Given the description of an element on the screen output the (x, y) to click on. 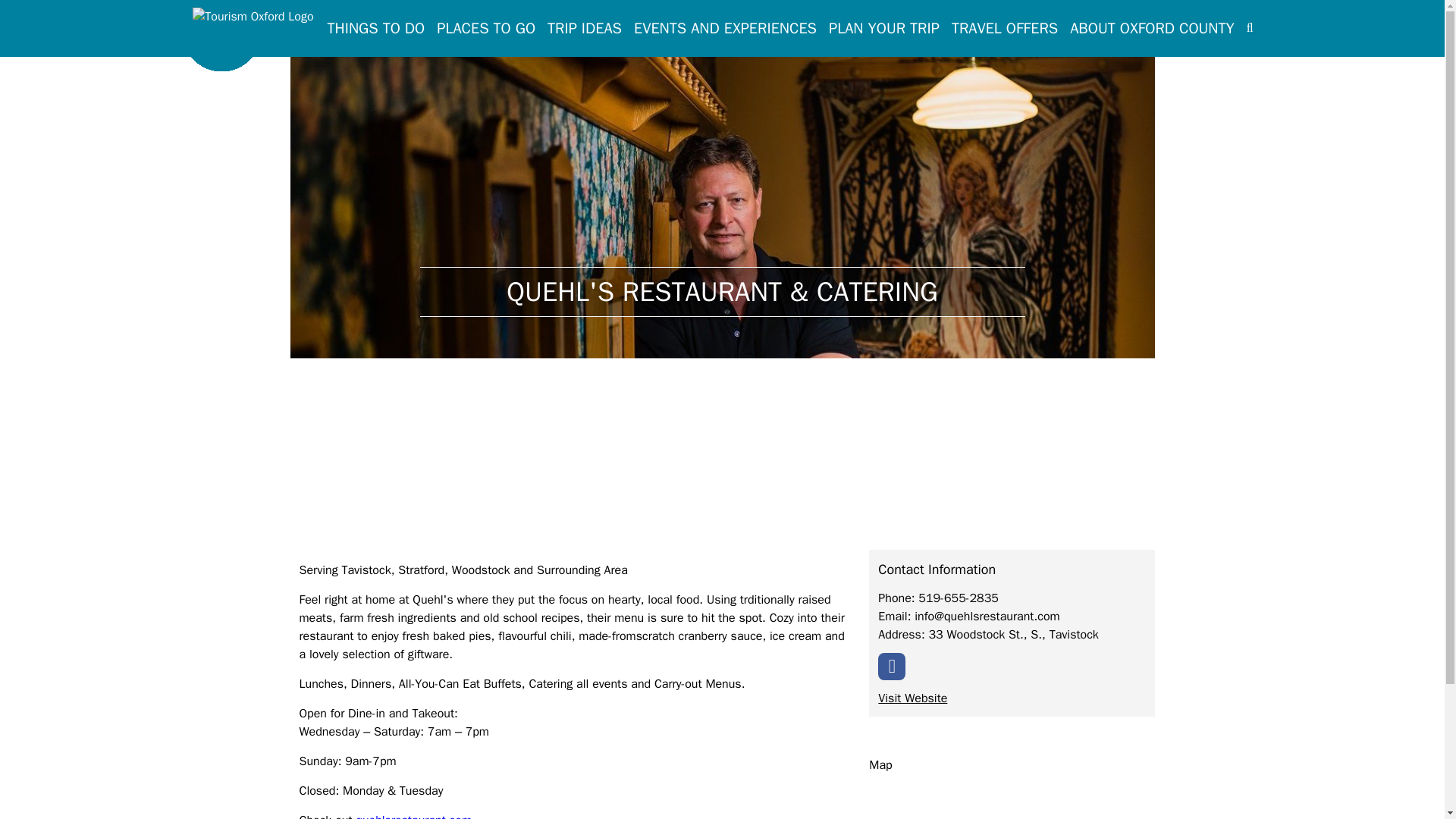
Tourism Oxford (252, 38)
PLACES TO GO (485, 28)
EVENTS AND EXPERIENCES (724, 28)
PLAN YOUR TRIP (883, 28)
THINGS TO DO (376, 28)
TRIP IDEAS (584, 28)
